Given the description of an element on the screen output the (x, y) to click on. 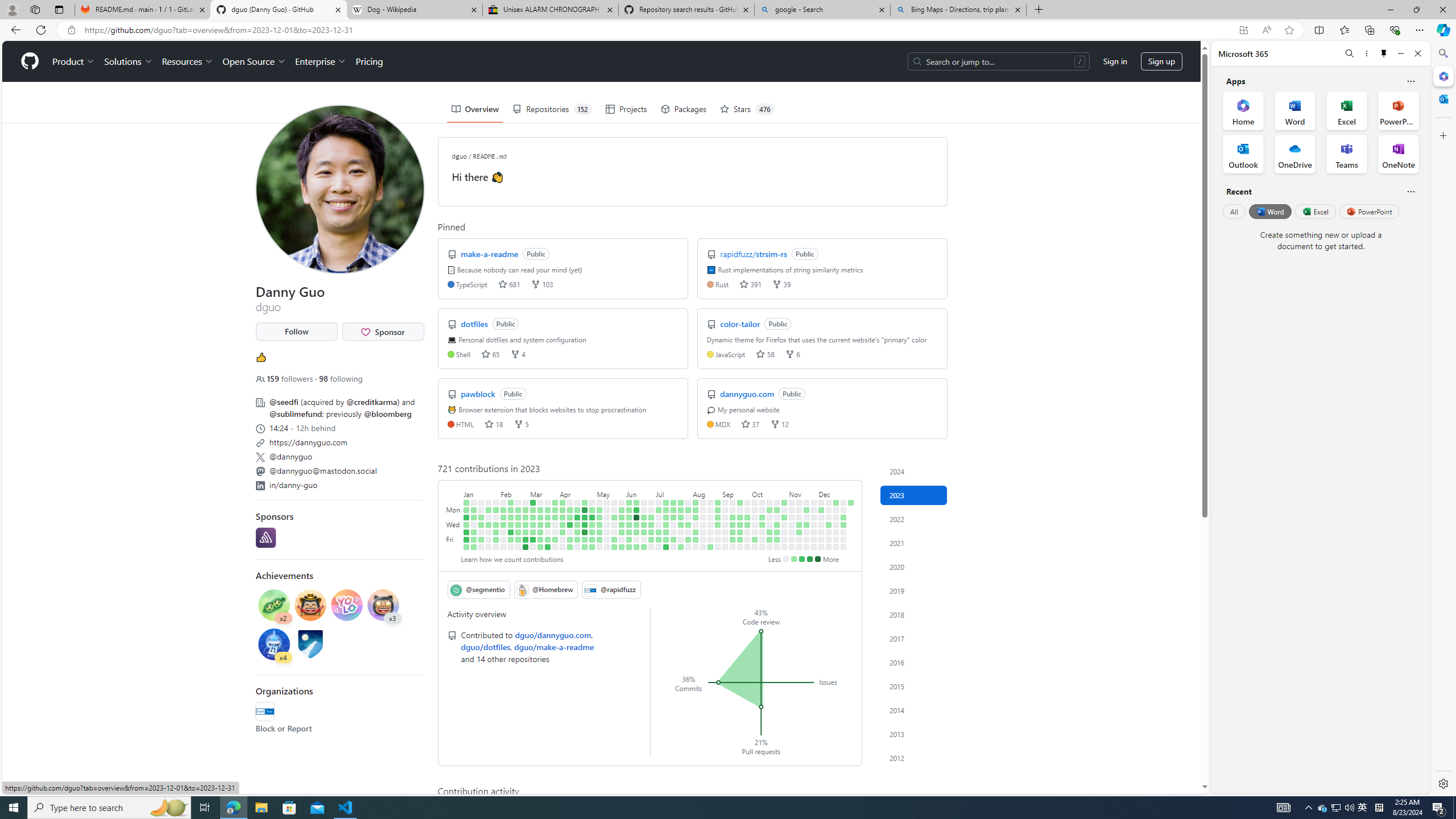
2 contributions on May 6th. (592, 546)
OneNote Office App (1398, 154)
3 contributions on February 20th. (518, 509)
No contributions on April 1st. (555, 546)
No contributions on December 1st. (813, 539)
Achievement: Quickdraw (310, 606)
1 contribution on November 22nd. (806, 524)
1 contribution on October 23rd. (777, 509)
4 contributions on February 22nd. (518, 524)
No contributions on September 9th. (725, 546)
dguo/dannyguo.com (553, 634)
4 contributions on April 4th. (562, 517)
No contributions on September 2nd. (717, 546)
stars 37 (750, 423)
Contribution activity in 2017 (913, 638)
